Given the description of an element on the screen output the (x, y) to click on. 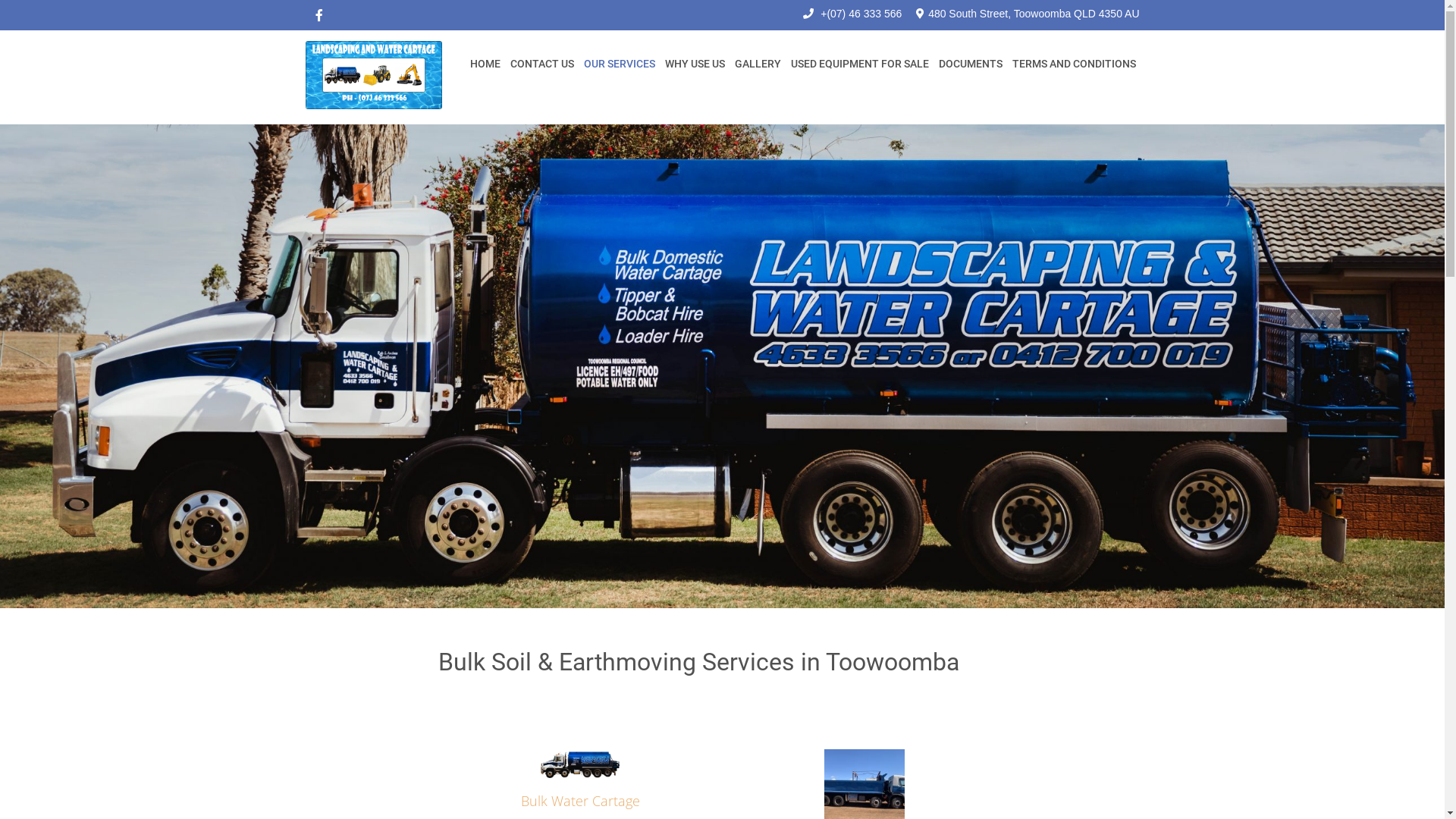
TERMS AND CONDITIONS Element type: text (1073, 63)
facebook Element type: hover (318, 15)
HOME Element type: text (484, 63)
Bulk Water Cartage Element type: text (579, 800)
USED EQUIPMENT FOR SALE Element type: text (859, 63)
DOCUMENTS Element type: text (969, 63)
OUR SERVICES Element type: text (618, 63)
CONTACT US Element type: text (541, 63)
GALLERY Element type: text (757, 63)
WHY USE US Element type: text (694, 63)
